Given the description of an element on the screen output the (x, y) to click on. 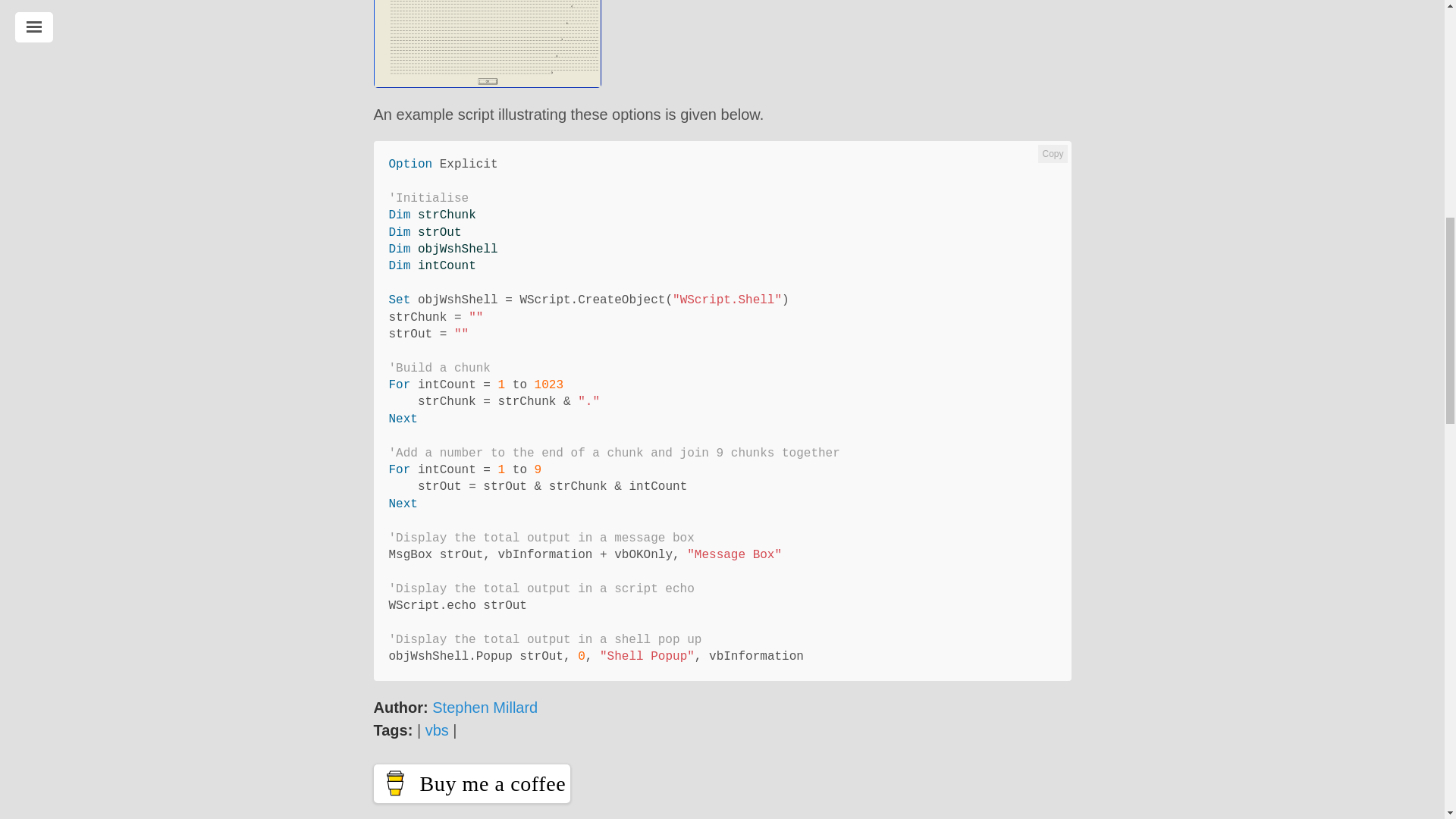
vbs (436, 729)
Stephen Millard (484, 707)
Copy (1052, 153)
Buy me a coffee (471, 783)
